Given the description of an element on the screen output the (x, y) to click on. 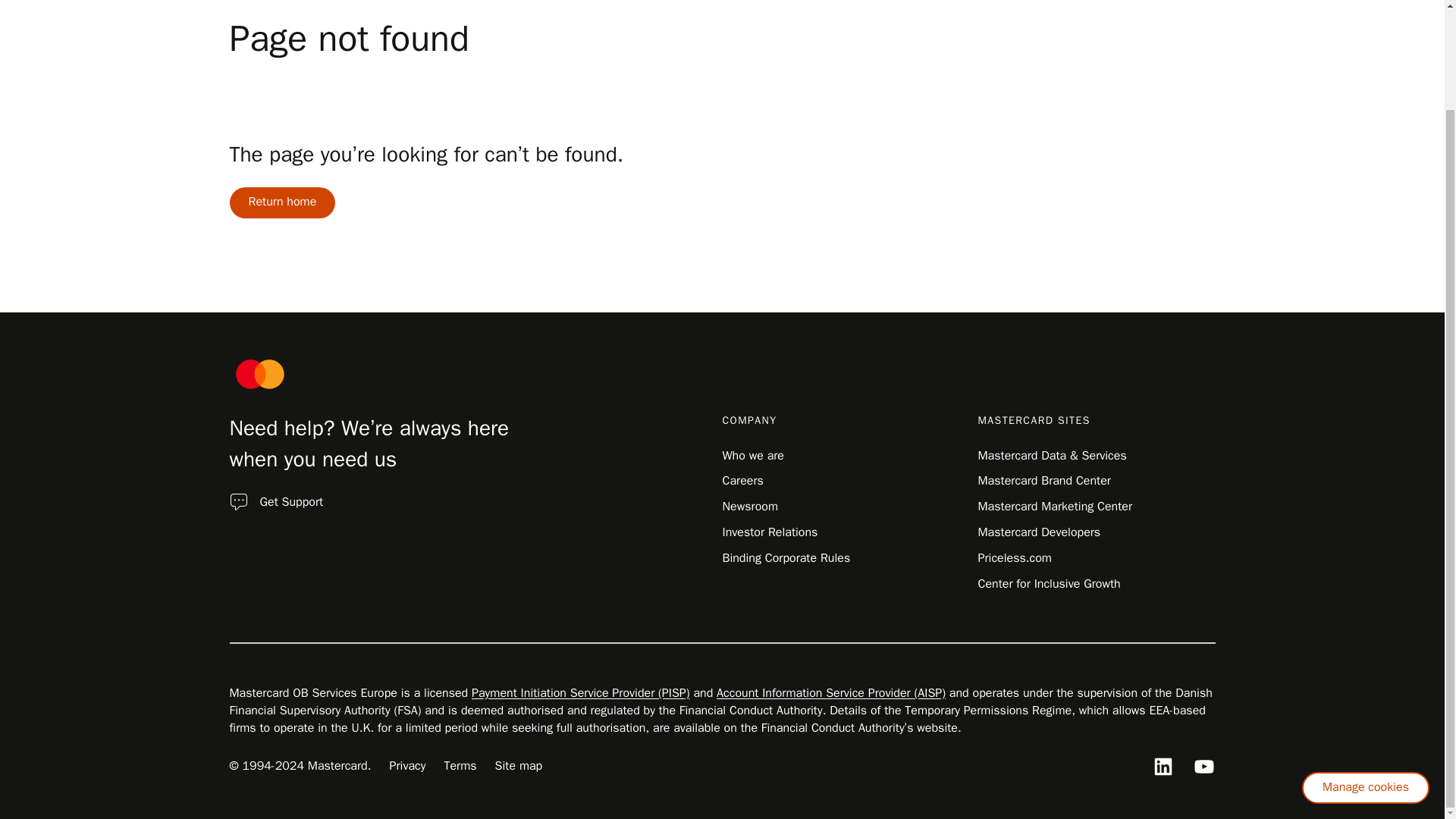
Investor Relations (769, 531)
Mastercard Marketing Center (1055, 506)
Mastercard Brand Center (1044, 480)
Priceless.com (1014, 557)
Get Support (291, 501)
Binding Corporate Rules (786, 557)
Return home (281, 202)
Careers (742, 480)
Mastercard Developers (1039, 531)
Newsroom (749, 506)
Who we are (752, 455)
